Given the description of an element on the screen output the (x, y) to click on. 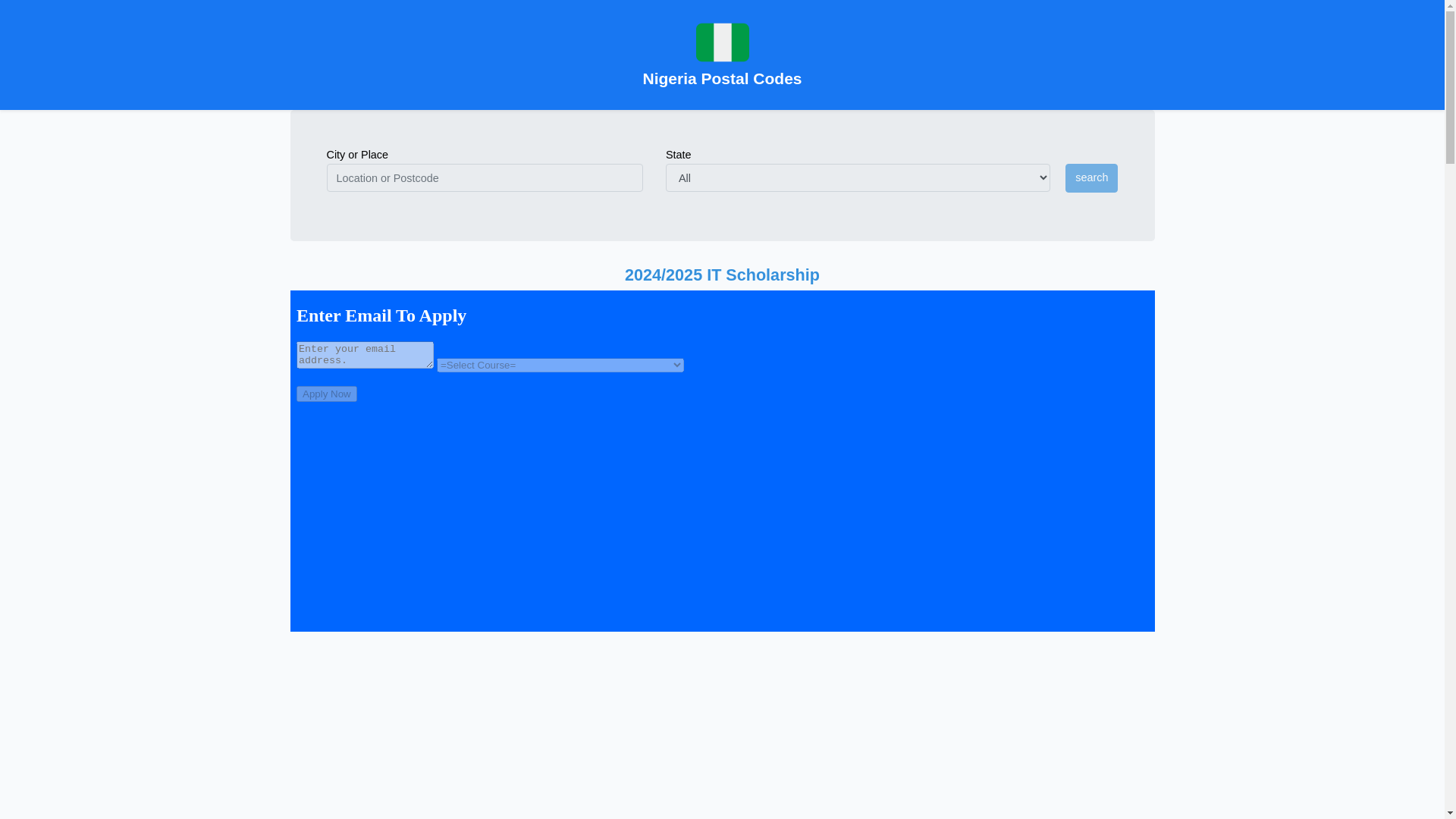
Nigeria Postal Codes (722, 54)
search (1091, 177)
search (1091, 177)
